Given the description of an element on the screen output the (x, y) to click on. 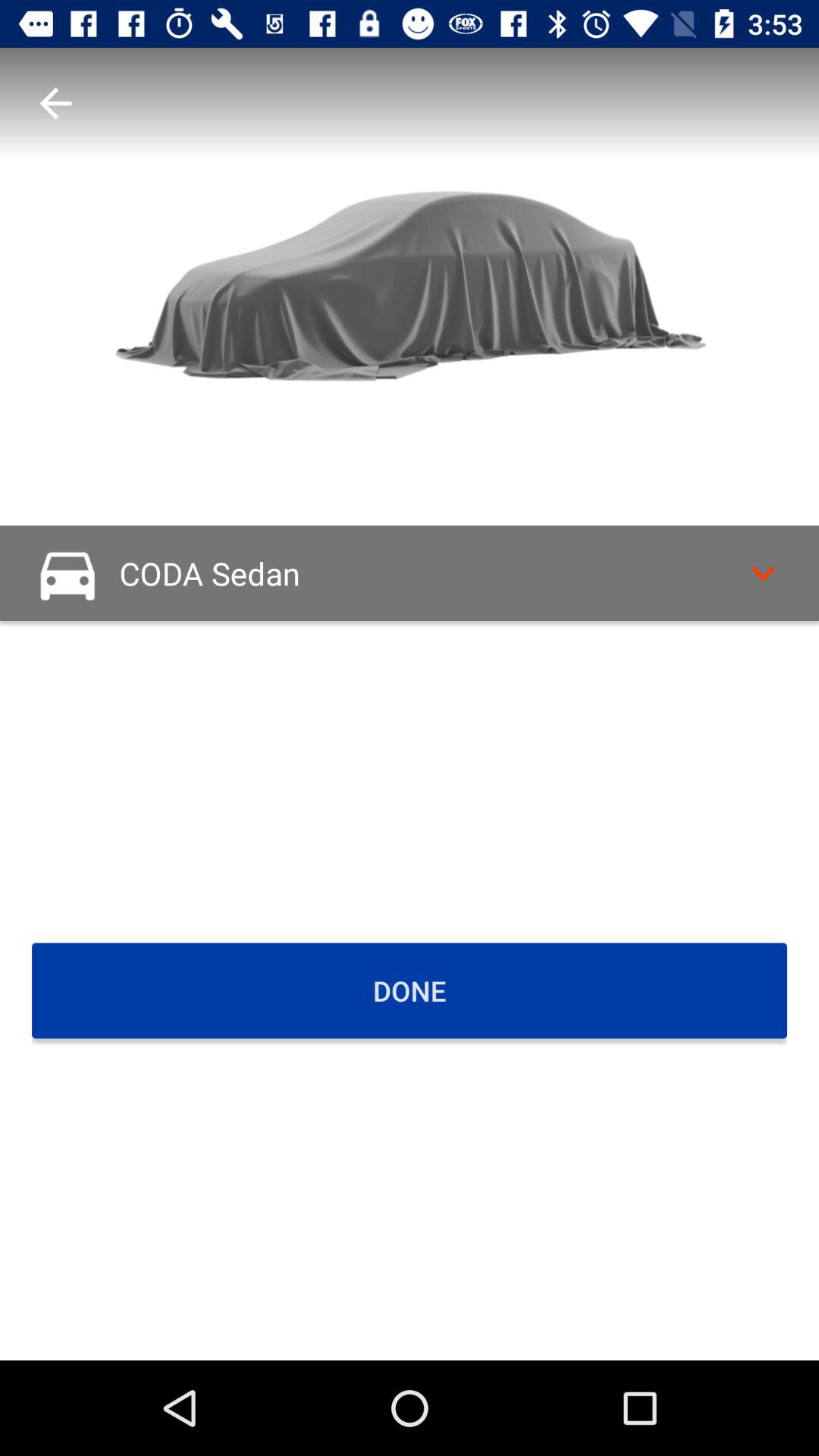
select icon at the top left corner (55, 103)
